Given the description of an element on the screen output the (x, y) to click on. 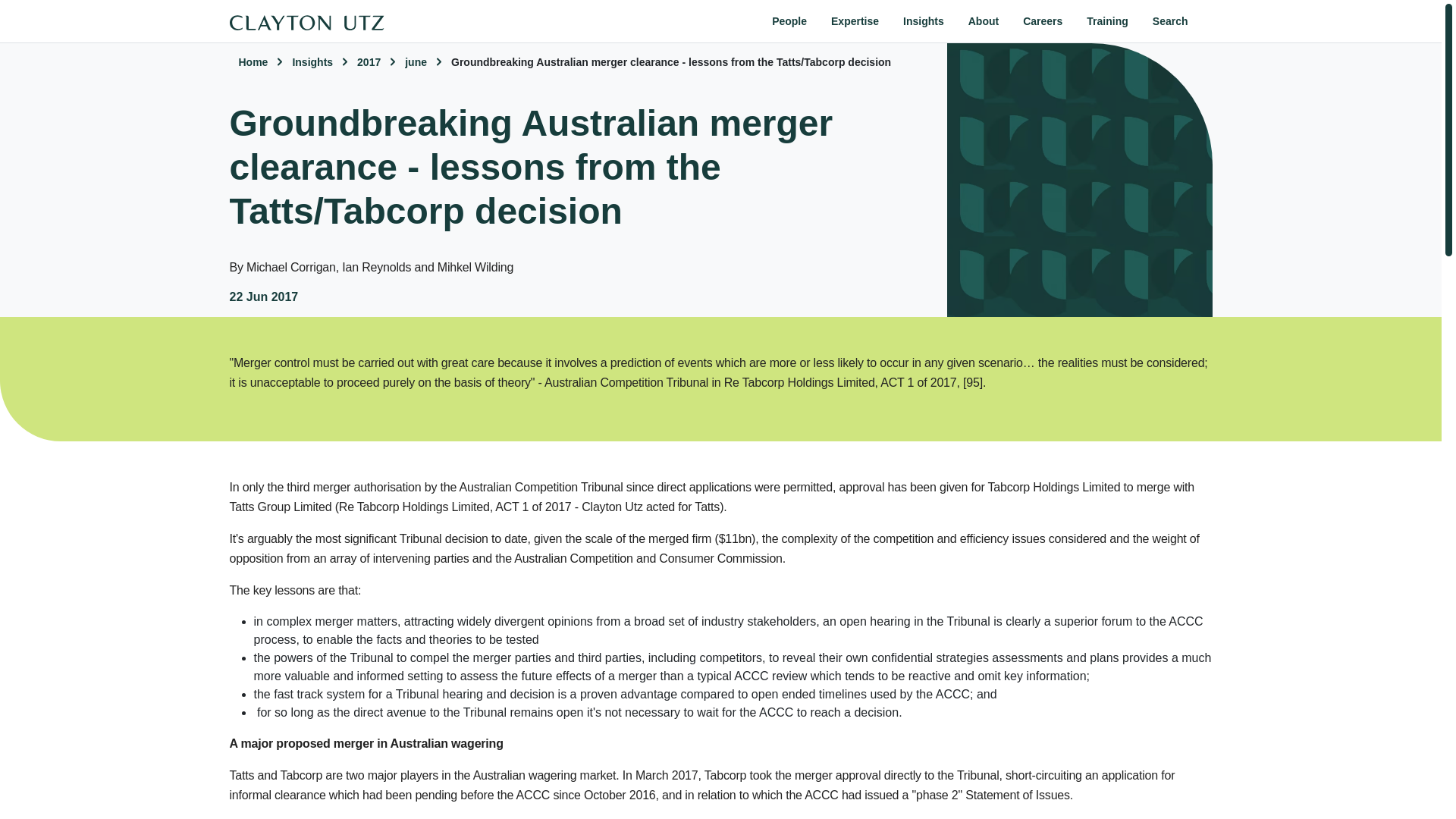
Search (1170, 21)
Training (1107, 21)
Insights (923, 21)
Careers (1042, 21)
About (983, 21)
Expertise (855, 21)
People (788, 21)
